Given the description of an element on the screen output the (x, y) to click on. 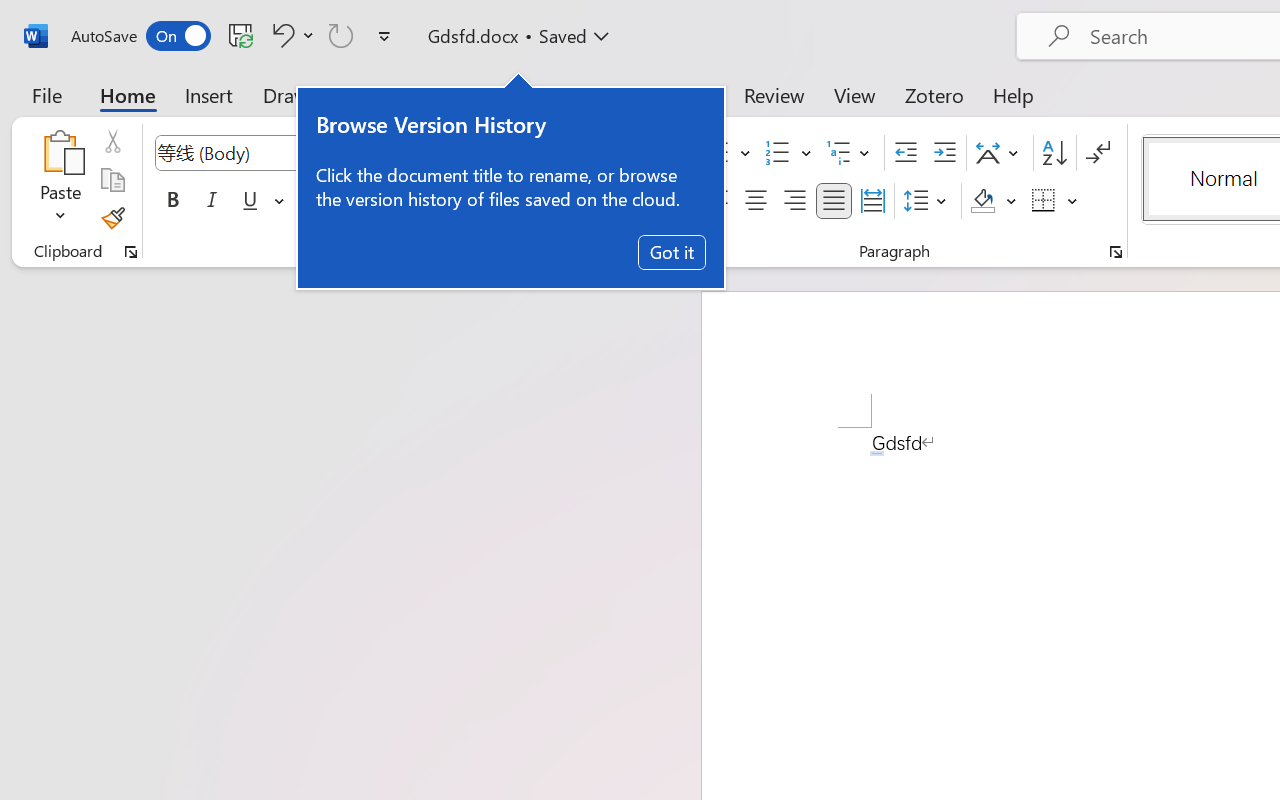
Justify (834, 201)
Multilevel List (850, 153)
Text Effects and Typography (444, 201)
Action: Undo Auto Actions (877, 453)
Font Color Red (556, 201)
Paragraph... (1115, 252)
Decrease Indent (906, 153)
